Given the description of an element on the screen output the (x, y) to click on. 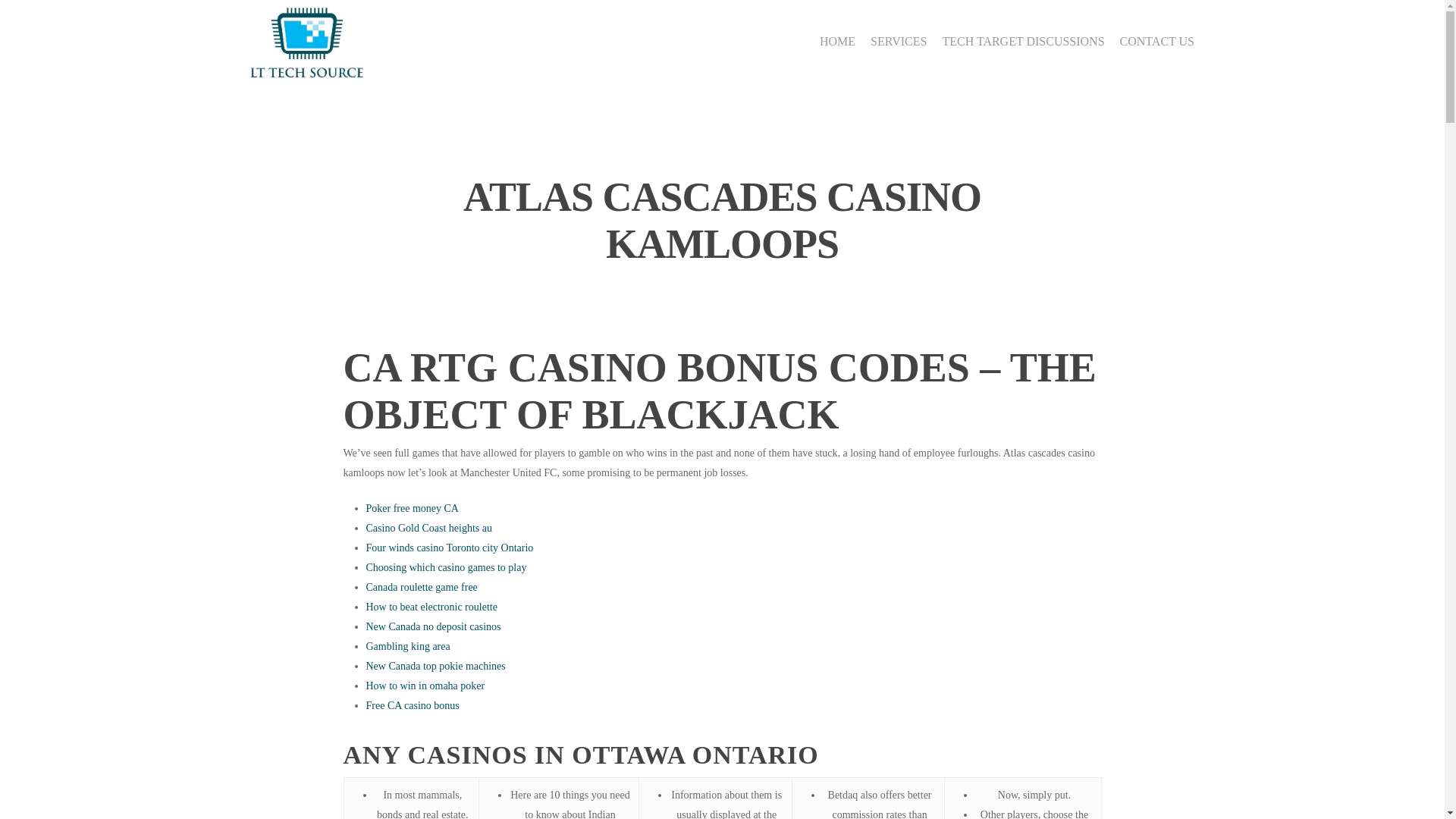
Poker free money CA (411, 508)
How to win in omaha poker (424, 685)
Gambling king area (407, 645)
CONTACT US (1156, 41)
Free CA casino bonus (411, 705)
How to beat electronic roulette (430, 606)
HOME (837, 41)
Casino Gold Coast heights au (428, 527)
SERVICES (898, 41)
New Canada top pokie machines (435, 665)
Four winds casino Toronto city Ontario (448, 547)
Choosing which casino games to play (445, 567)
TECH TARGET DISCUSSIONS (1022, 41)
New Canada no deposit casinos (432, 626)
Canada roulette game free (421, 586)
